Given the description of an element on the screen output the (x, y) to click on. 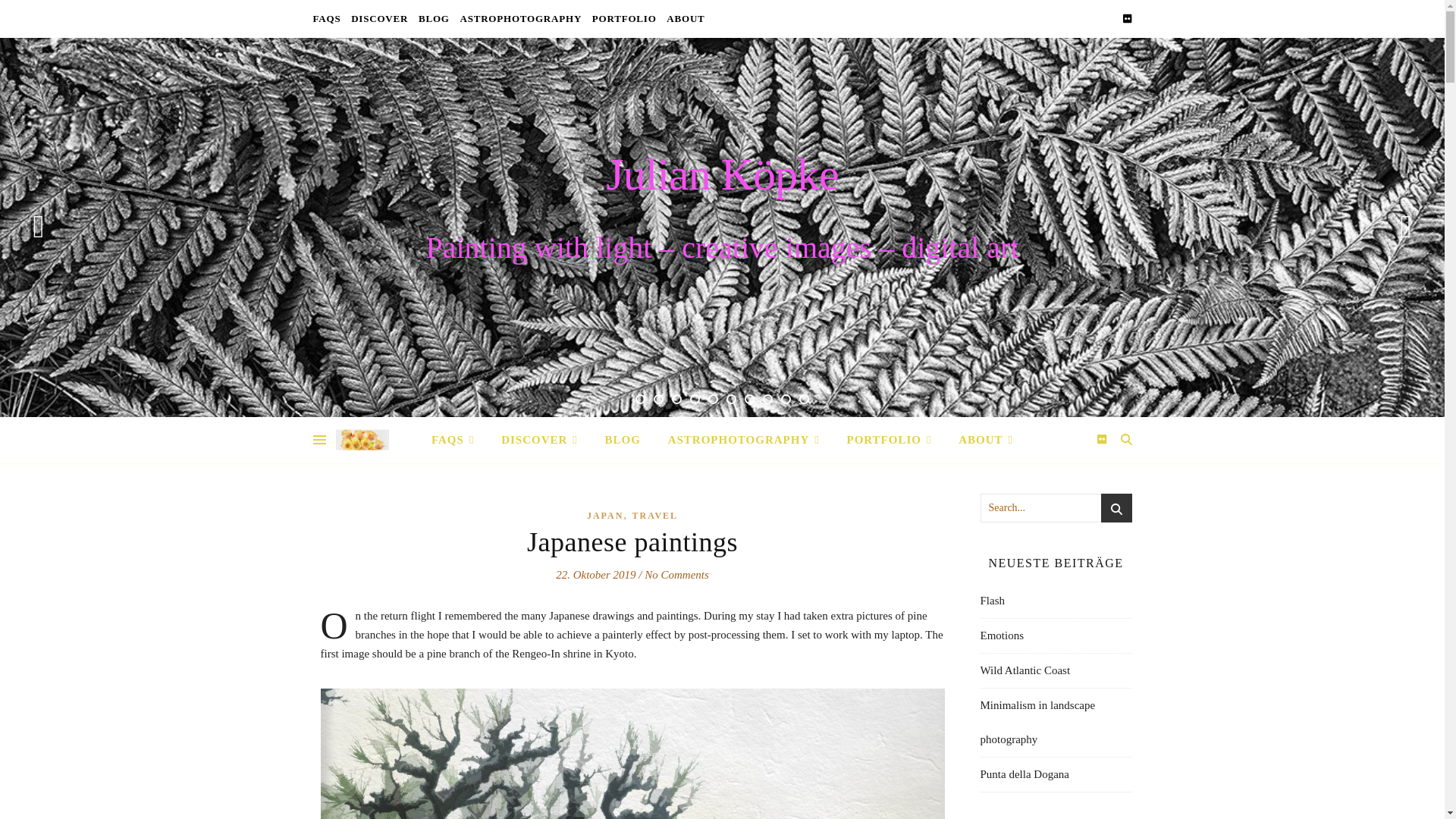
BLOG (433, 18)
DISCOVER (379, 18)
PORTFOLIO (624, 18)
ASTROPHOTOGRAPHY (520, 18)
